Given the description of an element on the screen output the (x, y) to click on. 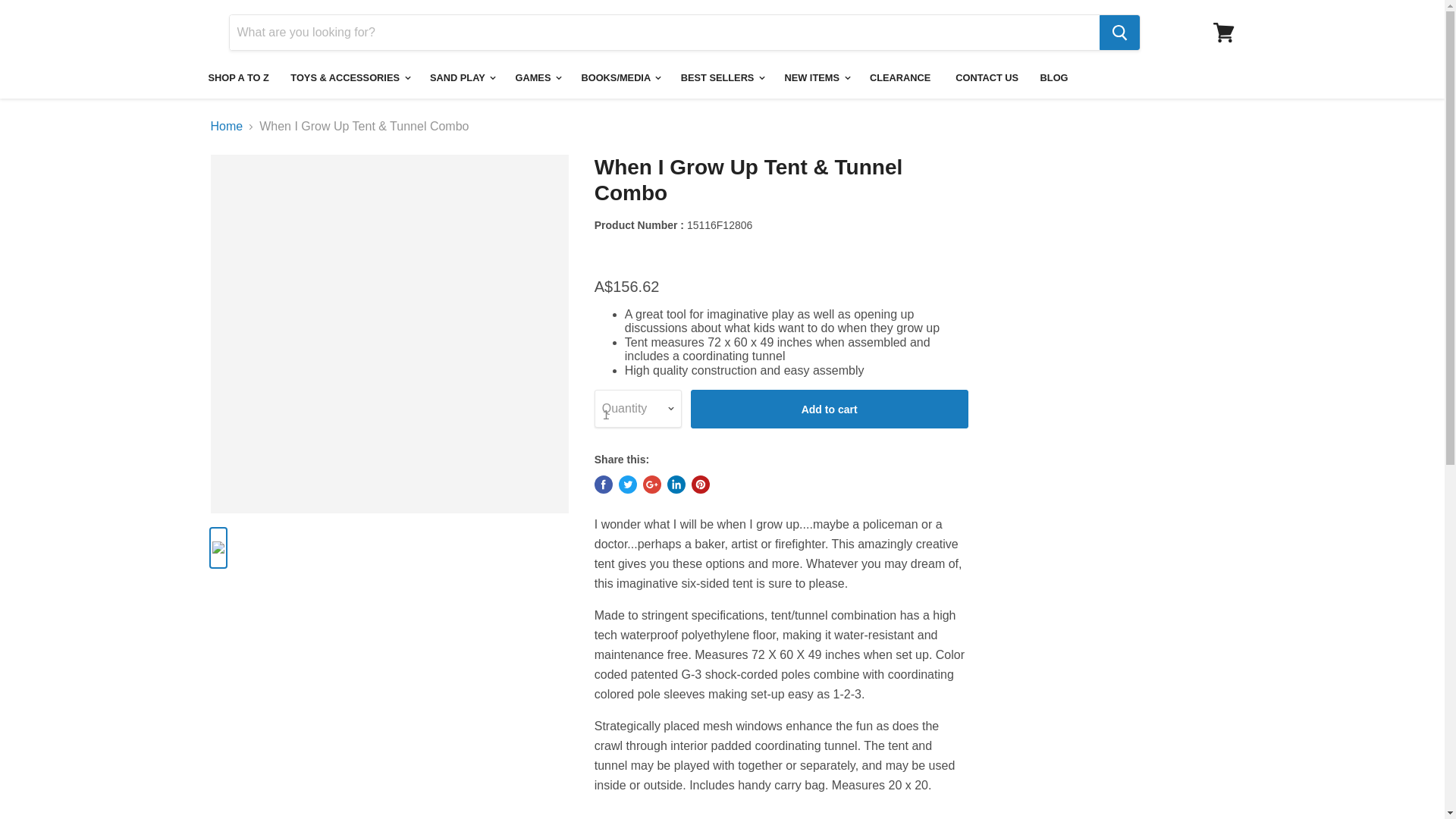
SHOP A TO Z (238, 77)
View cart (1223, 32)
